Given the description of an element on the screen output the (x, y) to click on. 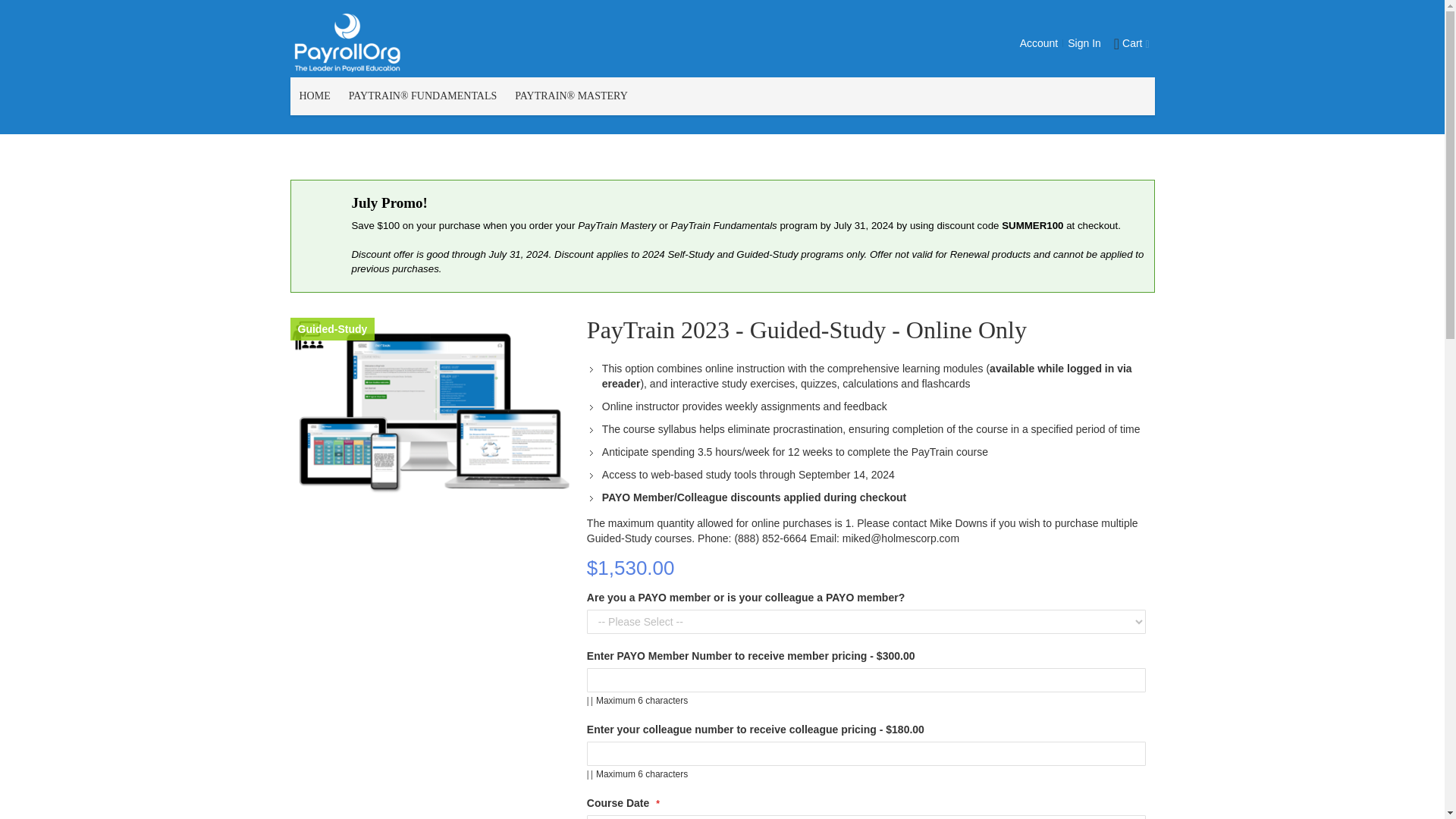
Sign In (1084, 42)
Account (1039, 42)
HOME (314, 95)
PAYO's PayTrain Programs (346, 42)
